Given the description of an element on the screen output the (x, y) to click on. 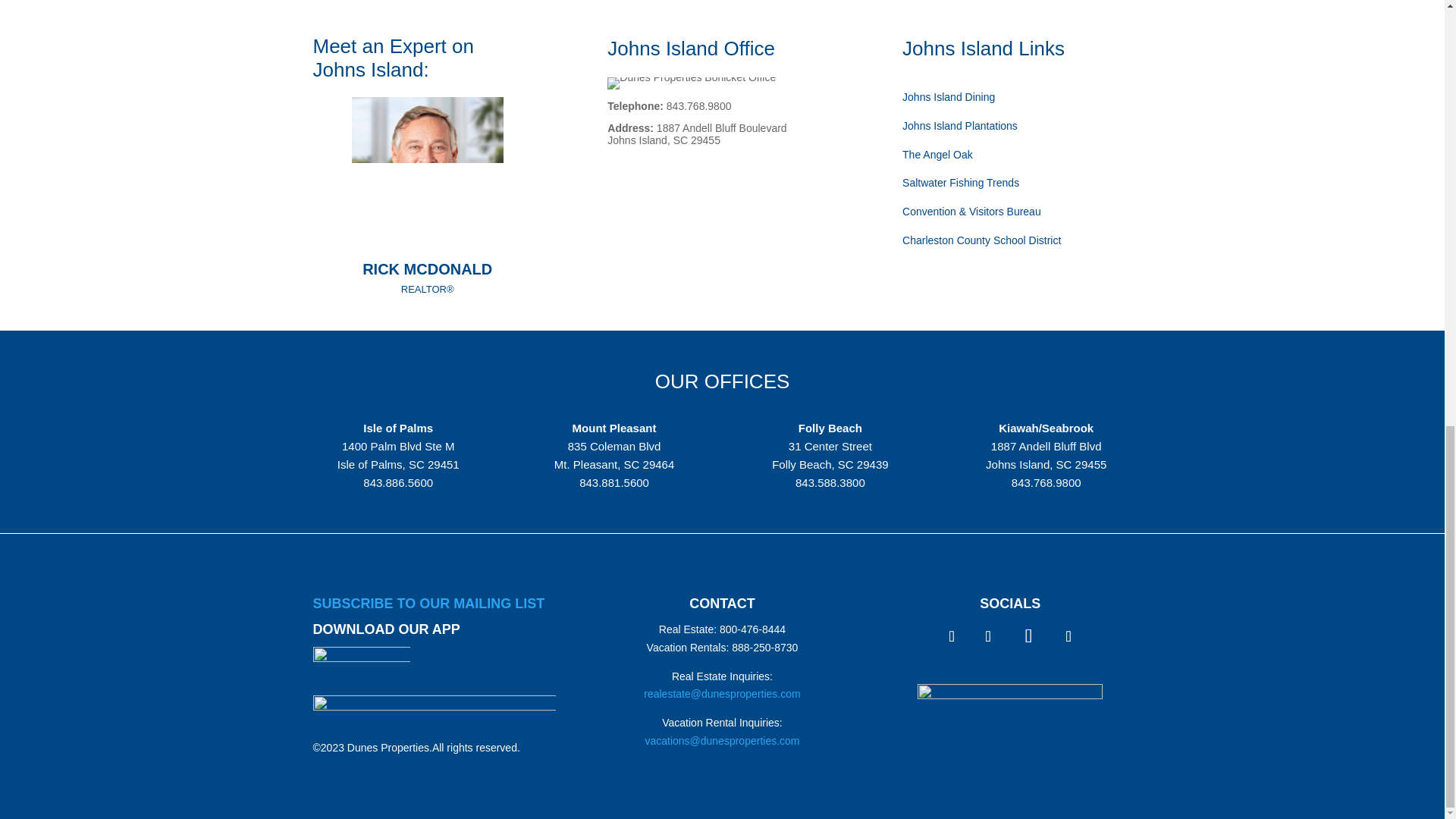
QR code :App Store Image (361, 665)
Follow on Facebook (951, 635)
Dunes Properties Bohicket Office (691, 82)
Follow on LinkedIn (1067, 635)
LeverageWhiteTransparent (1009, 716)
Follow on Youtube (1027, 636)
Follow on Instagram (987, 635)
DunesPropLogo-White (433, 713)
